Given the description of an element on the screen output the (x, y) to click on. 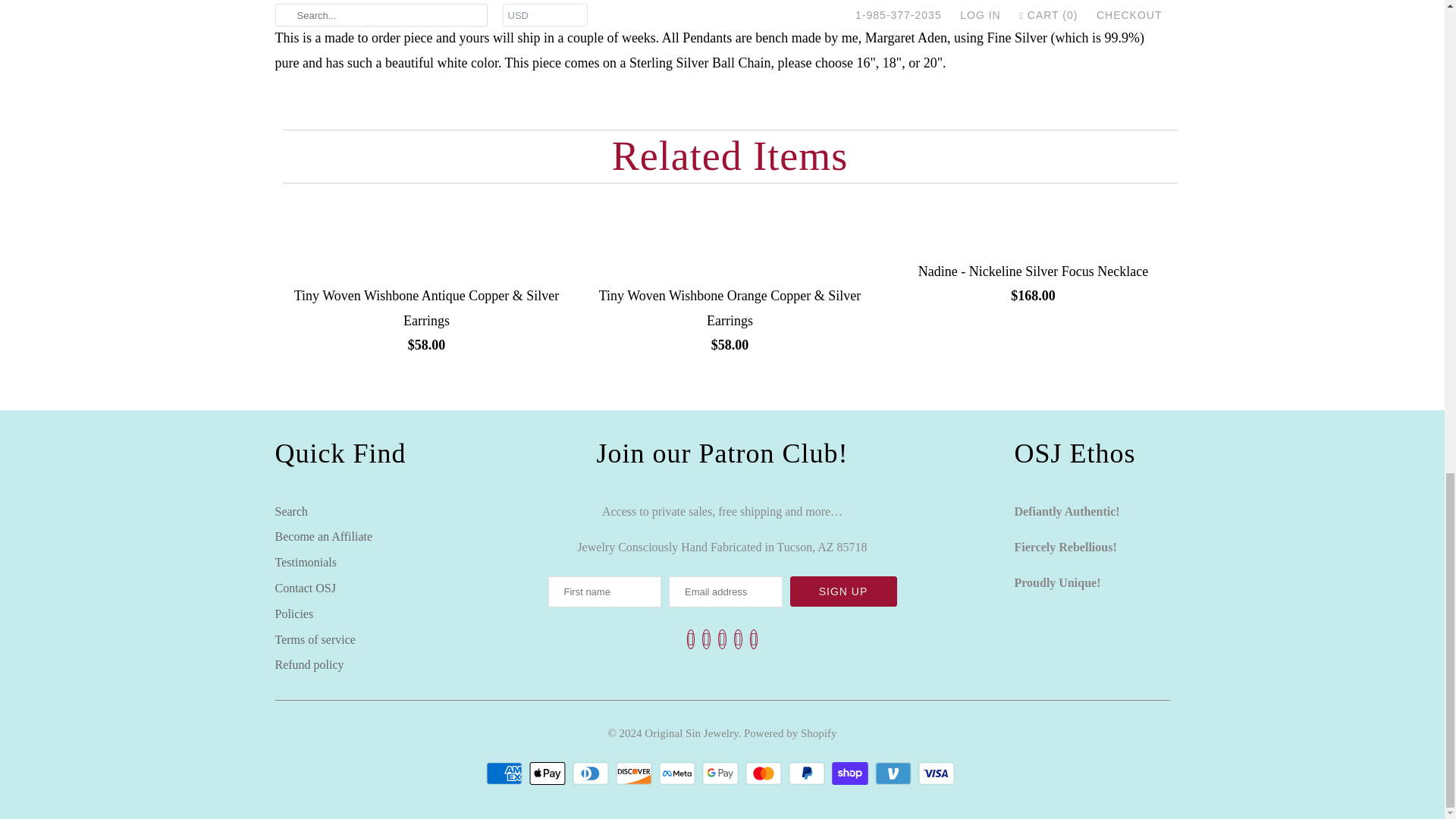
Diners Club (592, 773)
Apple Pay (549, 773)
Sign Up (843, 591)
Discover (635, 773)
American Express (505, 773)
Meta Pay (678, 773)
Visa (938, 773)
PayPal (808, 773)
Shop Pay (851, 773)
Venmo (895, 773)
Mastercard (765, 773)
Google Pay (721, 773)
